Given the description of an element on the screen output the (x, y) to click on. 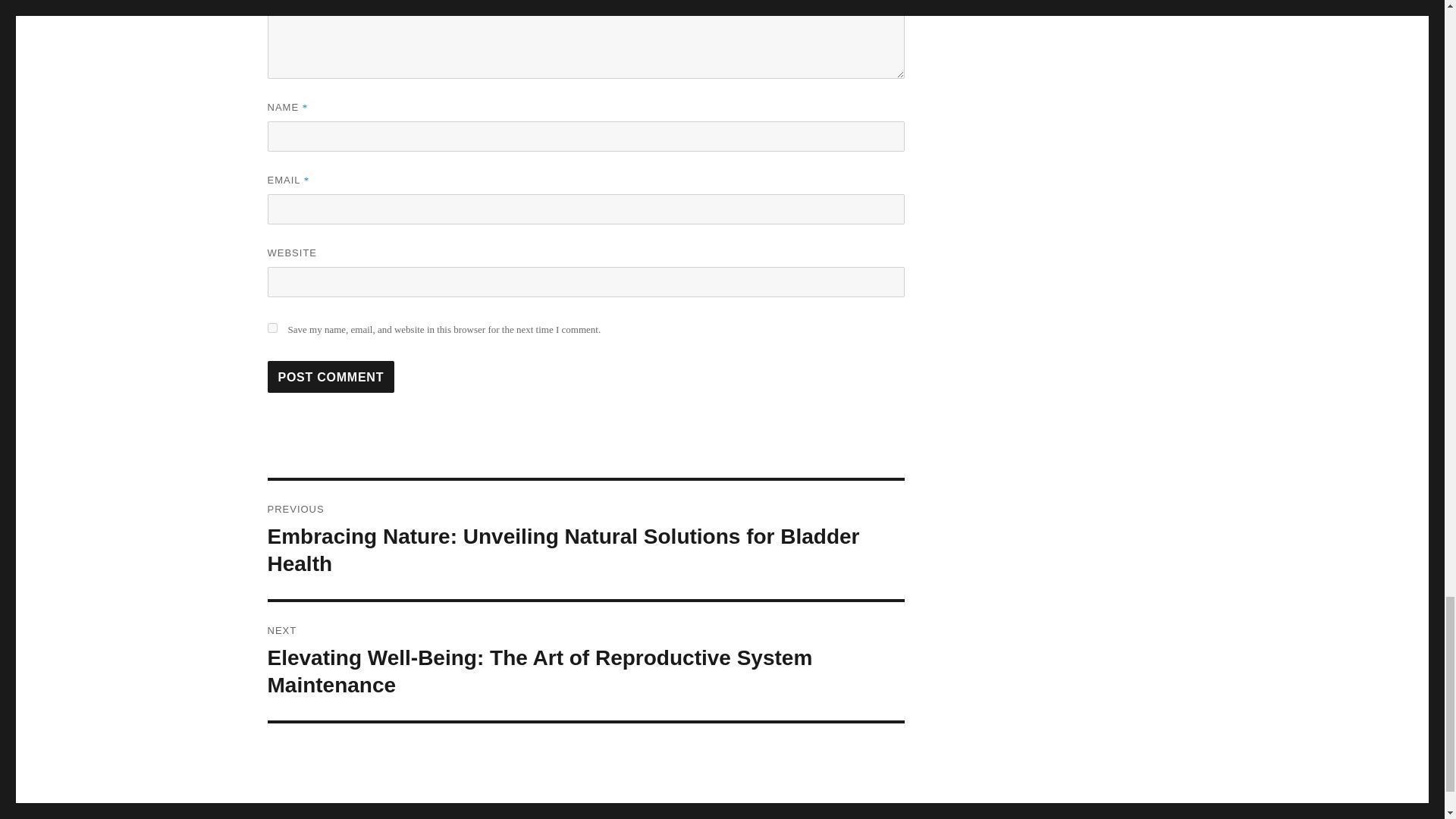
yes (271, 327)
Post Comment (330, 377)
Post Comment (330, 377)
